Given the description of an element on the screen output the (x, y) to click on. 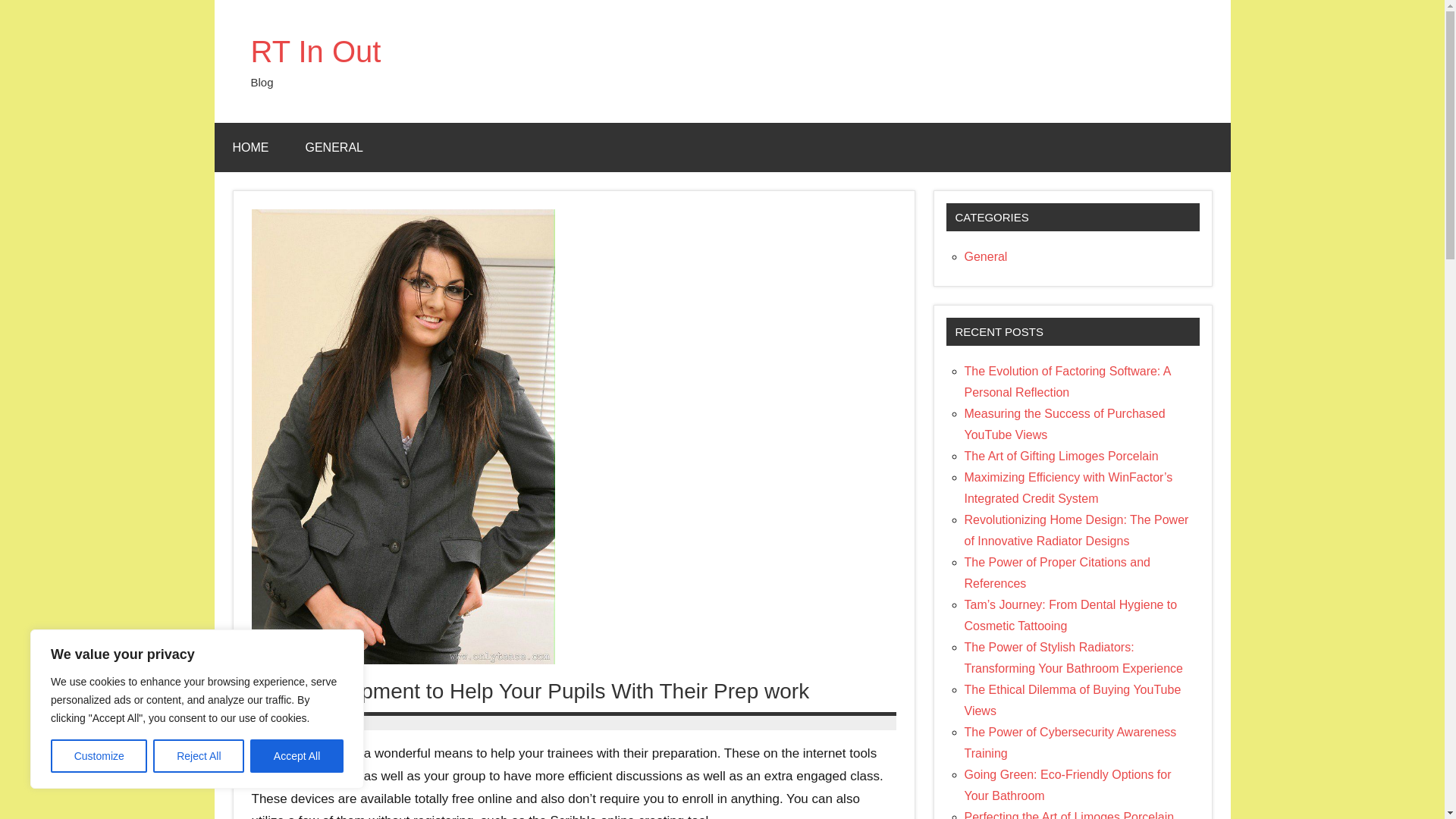
General (985, 256)
The Art of Gifting Limoges Porcelain (1060, 455)
The Evolution of Factoring Software: A Personal Reflection (1066, 381)
Accept All (296, 756)
GENERAL (333, 146)
Customize (98, 756)
The Ethical Dilemma of Buying YouTube Views (1071, 700)
RT In Out (315, 51)
Measuring the Success of Purchased YouTube Views (1064, 424)
The Power of Proper Citations and References (1056, 572)
HOME (250, 146)
Reject All (198, 756)
